Given the description of an element on the screen output the (x, y) to click on. 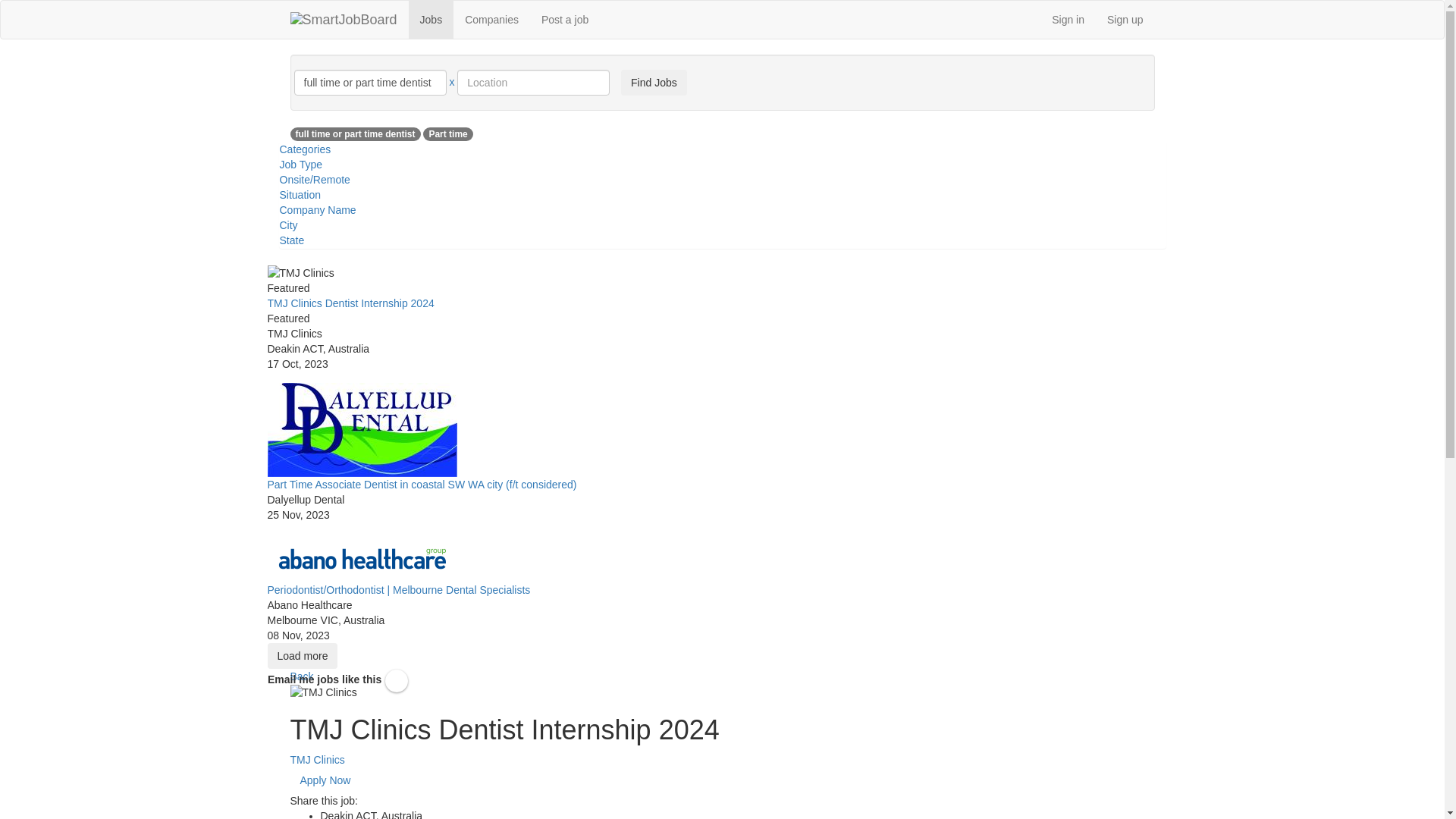
Next Element type: text (266, 370)
Sign up Element type: text (1124, 19)
Back Element type: text (301, 676)
Apply Now Element type: text (324, 780)
Post a job Element type: text (564, 19)
Situation Element type: text (299, 194)
TMJ Clinics Dentist Internship 2024 Element type: text (349, 303)
Sign in Element type: text (1067, 19)
Back to job list Element type: text (289, 668)
full time or part time dentist Element type: text (354, 134)
Categories Element type: text (304, 149)
City Element type: text (288, 225)
State Element type: text (291, 240)
Part time Element type: text (447, 134)
Onsite/Remote Element type: text (314, 179)
Companies Element type: text (491, 19)
Job Type Element type: text (300, 164)
Periodontist/Orthodontist | Melbourne Dental Specialists Element type: text (398, 589)
TMJ Clinics Element type: text (316, 759)
Load more Element type: text (301, 655)
Company Name Element type: text (317, 209)
Jobs Element type: text (431, 19)
Find Jobs Element type: text (654, 82)
x Element type: text (451, 81)
